Given the description of an element on the screen output the (x, y) to click on. 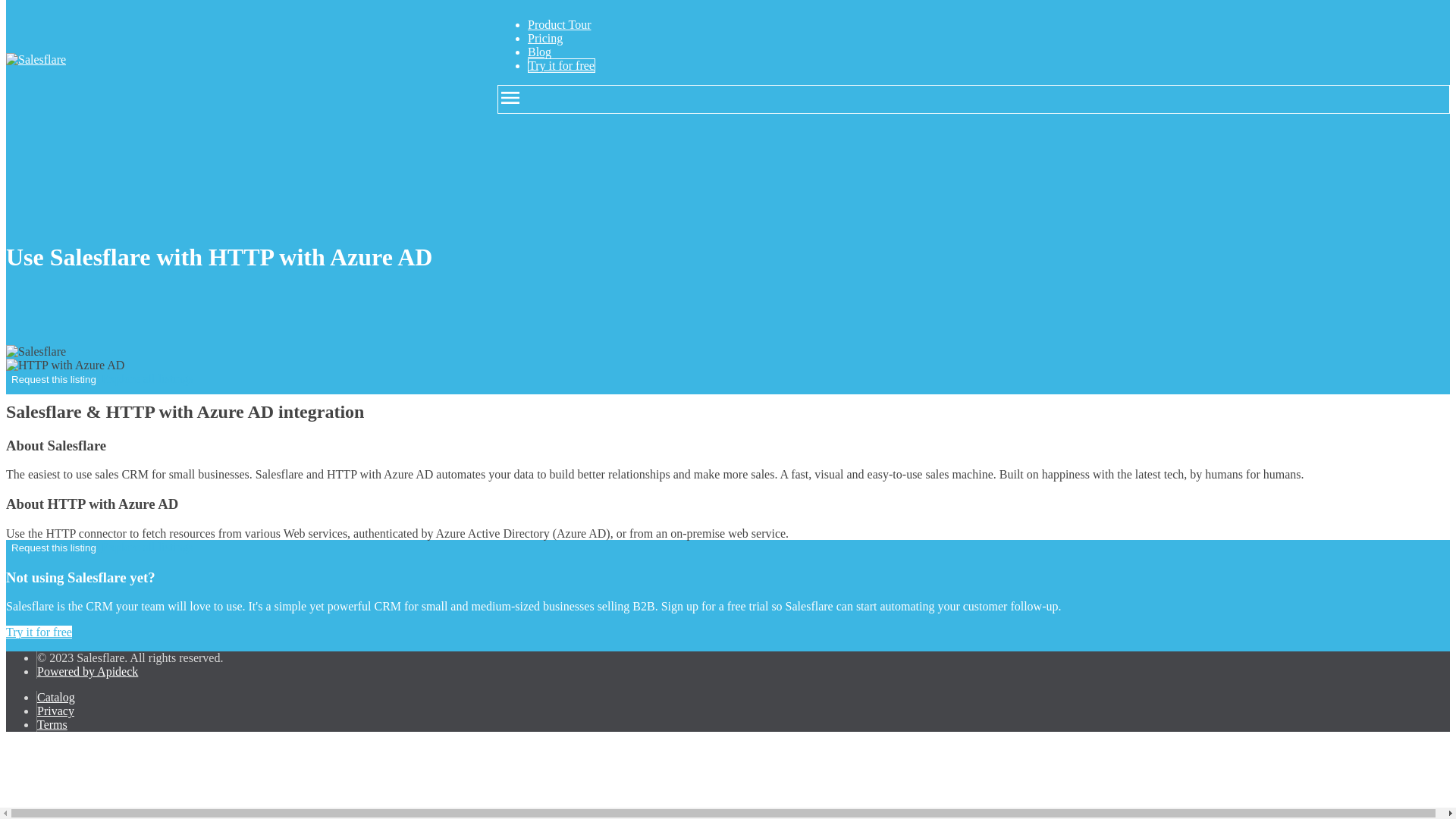
Salesflare (35, 351)
Try it for free (561, 65)
Privacy (55, 710)
Pricing (544, 38)
Terms (51, 724)
Powered by Apideck (87, 671)
HTTP with Azure AD (64, 365)
Explore all listings (147, 546)
Explore all listings (147, 378)
Blog (539, 51)
